Given the description of an element on the screen output the (x, y) to click on. 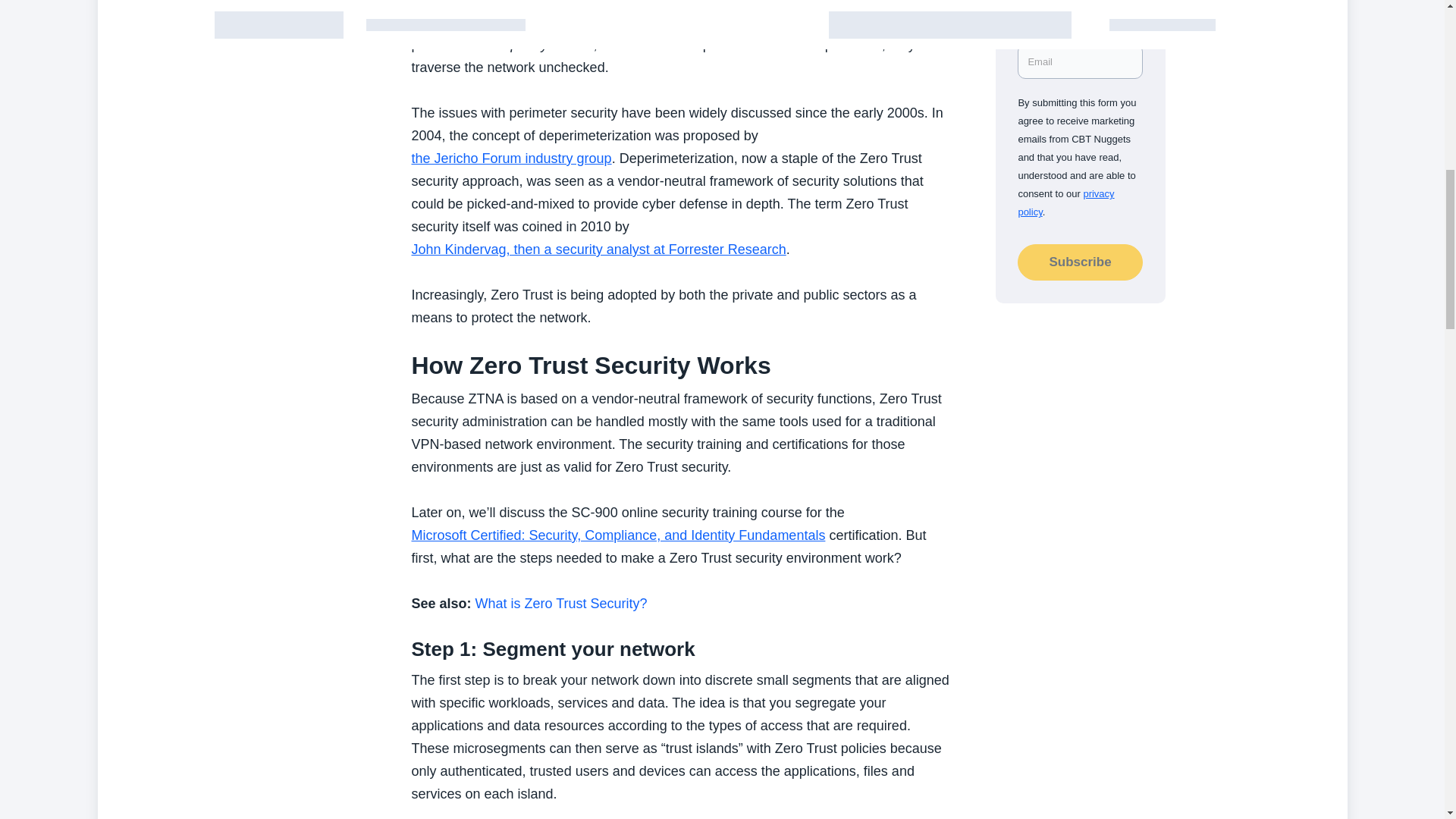
What is Zero Trust Security? (561, 603)
the Jericho Forum industry group (510, 158)
Subscribe (1079, 262)
privacy policy (1065, 202)
